Given the description of an element on the screen output the (x, y) to click on. 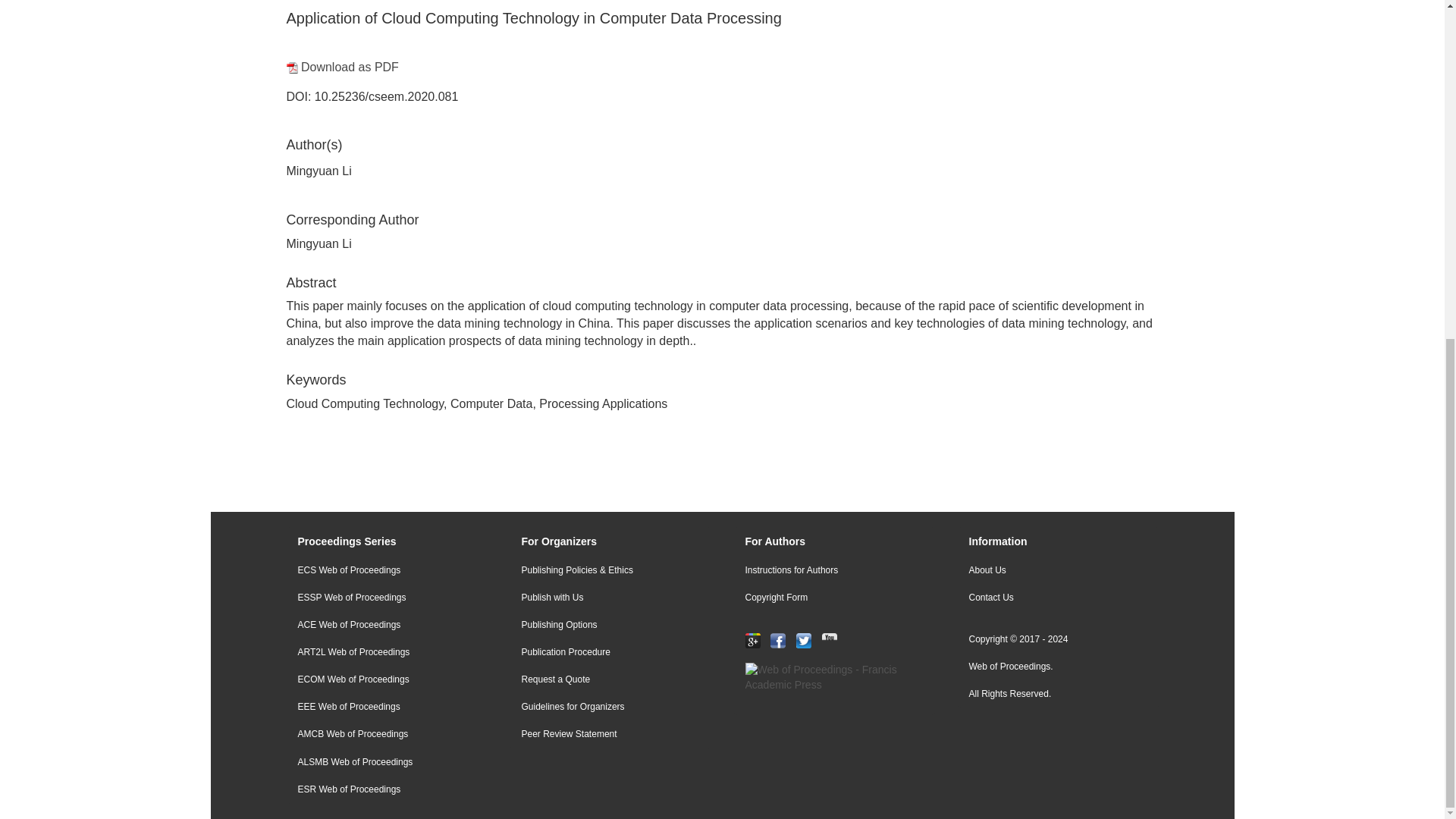
Information (1056, 542)
ACE Web of Proceedings (386, 624)
AMCB Web of Proceedings (386, 734)
Contact Us (1056, 597)
Request a Quote (609, 679)
EEE Web of Proceedings (386, 706)
Guidelines for Organizers (609, 706)
ESR Web of Proceedings (386, 789)
For Organizers (609, 542)
Peer Review Statement (609, 734)
